Given the description of an element on the screen output the (x, y) to click on. 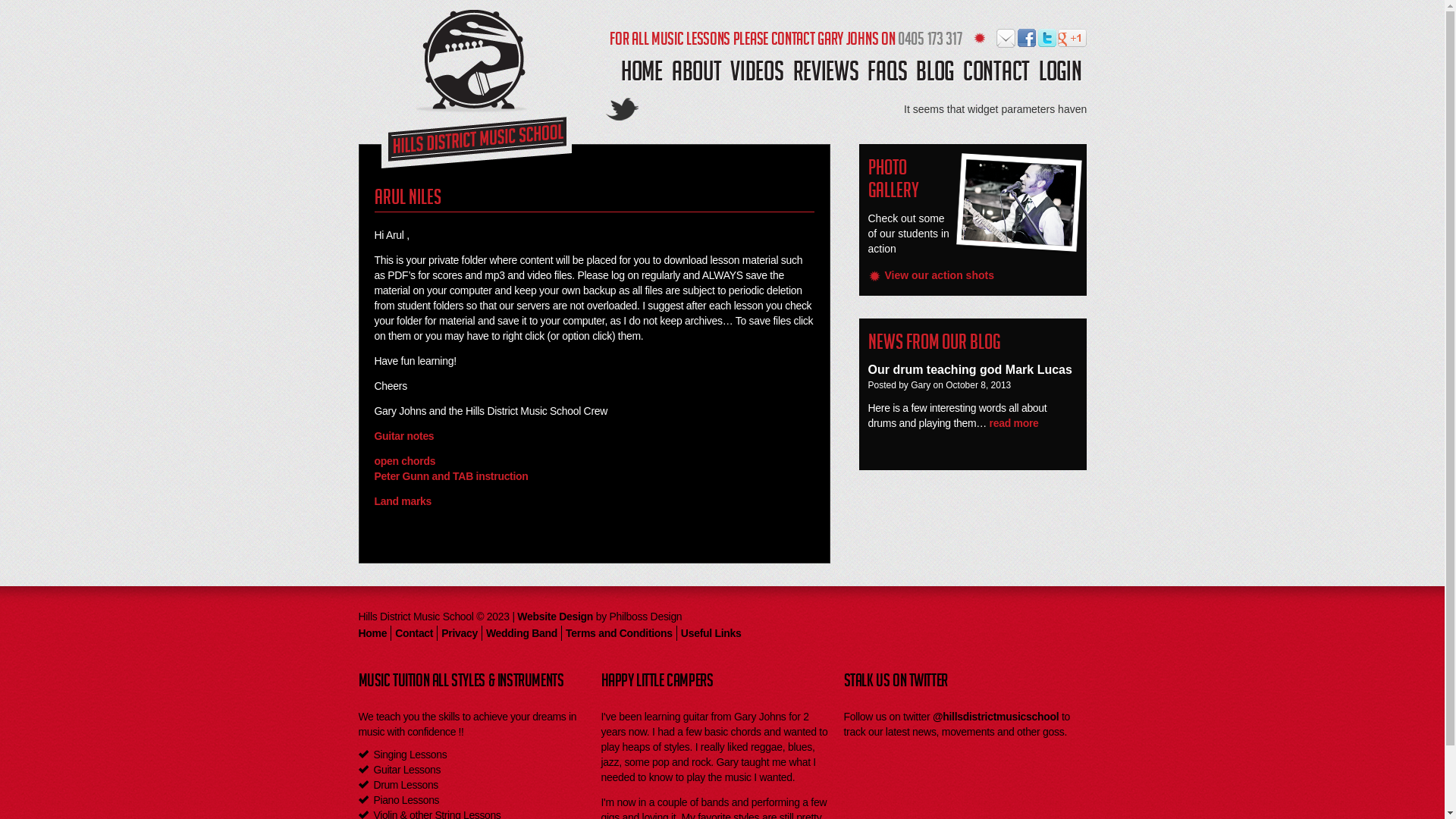
BLOG Element type: text (934, 74)
Website Design Element type: text (555, 616)
Guitar notes Element type: text (404, 435)
read more Element type: text (1013, 423)
HILLS DISTRICT MUSIC SCHOOL ON GOOGLE PLUS Element type: text (1067, 37)
Wedding Band Element type: text (521, 633)
HILLS DISTRICT MUSIC SCHOOL ON FACEBOOK Element type: text (1026, 37)
Home Element type: text (371, 633)
View our action shots Element type: text (943, 274)
HILLS DISTRICT MUSIC SCHOOL ON EMAIL Element type: text (1005, 37)
HILLS DISTRICT MUSIC SCHOOL ON TWITTER Element type: text (1046, 37)
HOME Element type: text (641, 74)
ABOUT Element type: text (696, 74)
Useful Links Element type: text (710, 633)
photo-gallery-hero Element type: hover (1018, 199)
FAQS Element type: text (886, 74)
@hillsdistrictmusicschool Element type: text (995, 716)
LOGIN Element type: text (1060, 74)
CONTACT Element type: text (996, 74)
Contact Element type: text (414, 633)
Terms and Conditions Element type: text (618, 633)
open chords Element type: text (405, 461)
Privacy Element type: text (459, 633)
Land marks Element type: text (403, 501)
Peter Gunn and TAB instruction Element type: text (451, 476)
VIDEOS Element type: text (756, 74)
REVIEWS Element type: text (826, 74)
